Given the description of an element on the screen output the (x, y) to click on. 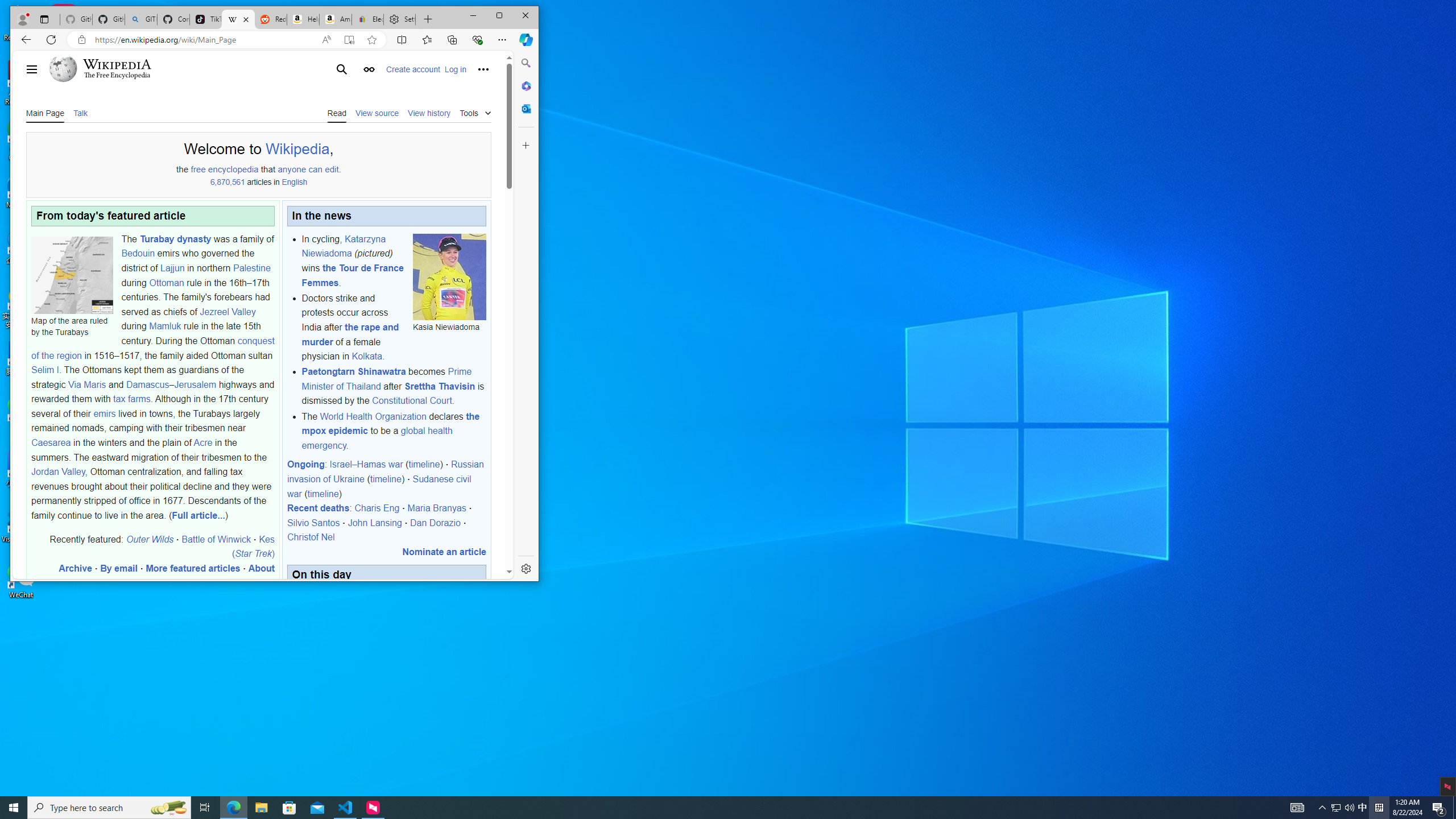
Wikipedia (116, 63)
Log in (454, 68)
free (197, 169)
emirs (104, 413)
Reddit - Dive into anything (269, 19)
English (294, 181)
Action Center, 2 new notifications (1439, 807)
Outer Wilds (149, 538)
Main menu (30, 68)
Notification Chevron (1322, 807)
